Given the description of an element on the screen output the (x, y) to click on. 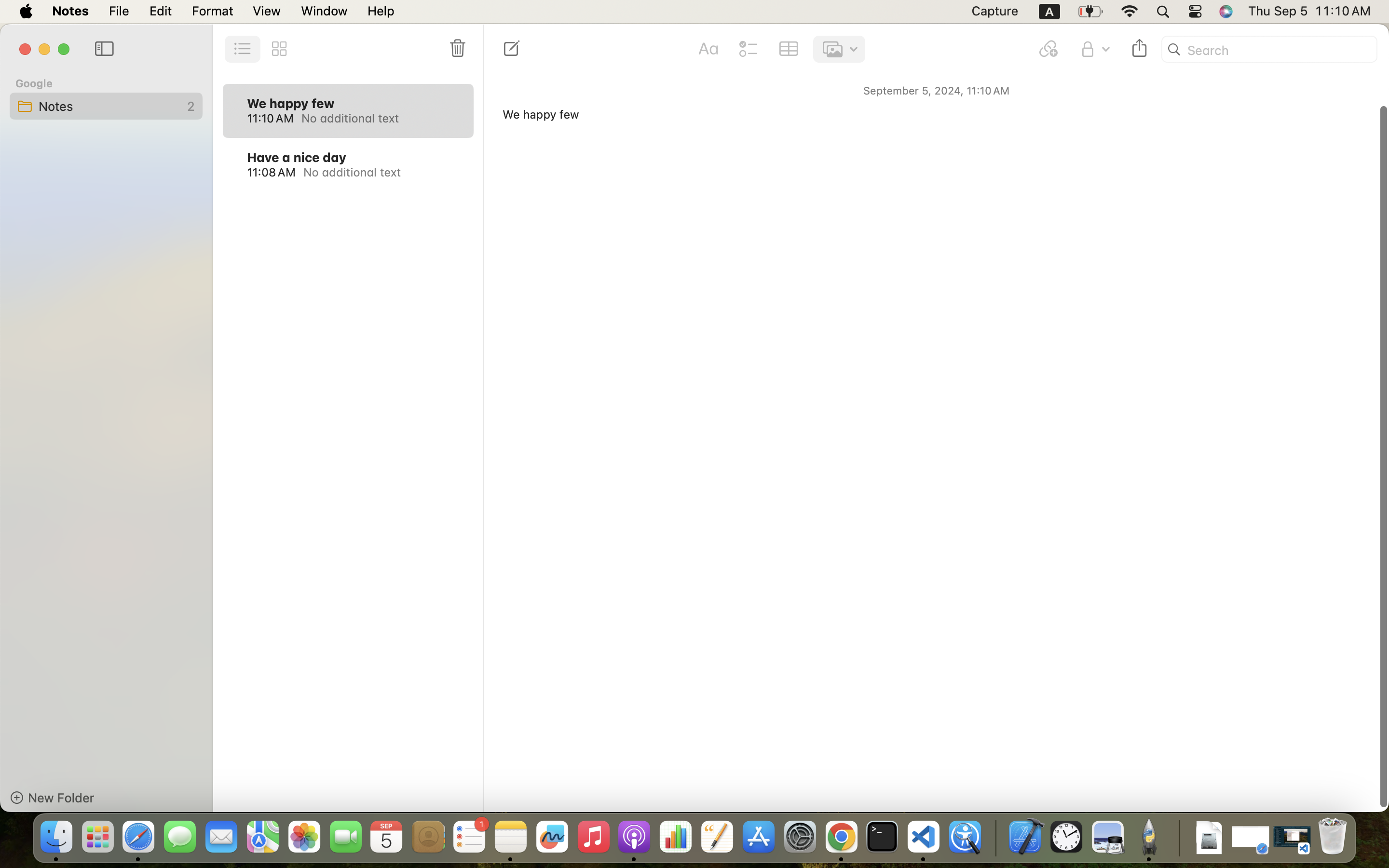
Notes with Attachments Element type: AXStaticText (1078, 312)
Google Element type: AXStaticText (33, 82)
Have a nice day Element type: AXStaticText (296, 156)
Notes with Checklists Element type: AXStaticText (1078, 227)
